Given the description of an element on the screen output the (x, y) to click on. 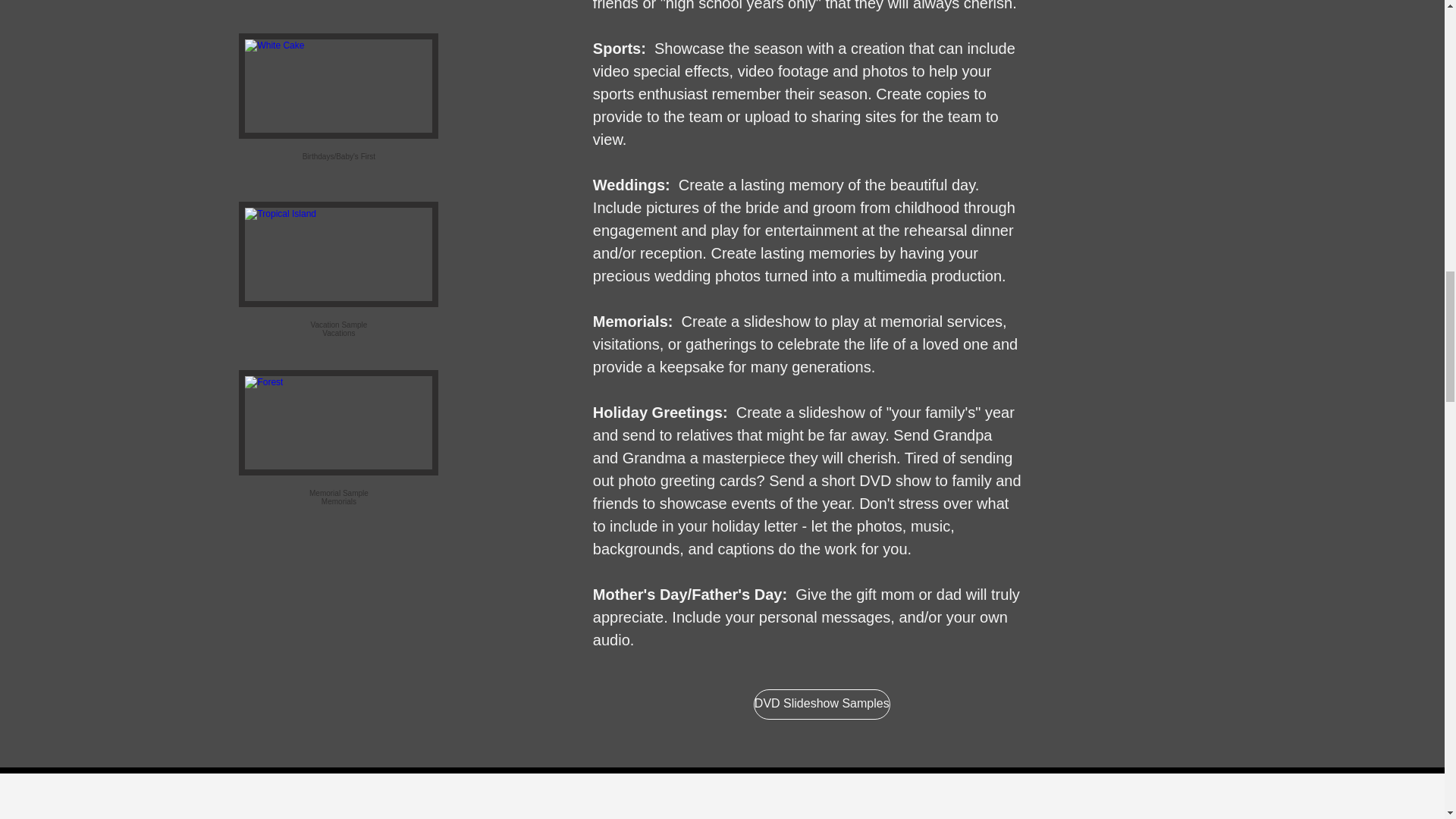
DVD Slideshow Samples (821, 704)
